Given the description of an element on the screen output the (x, y) to click on. 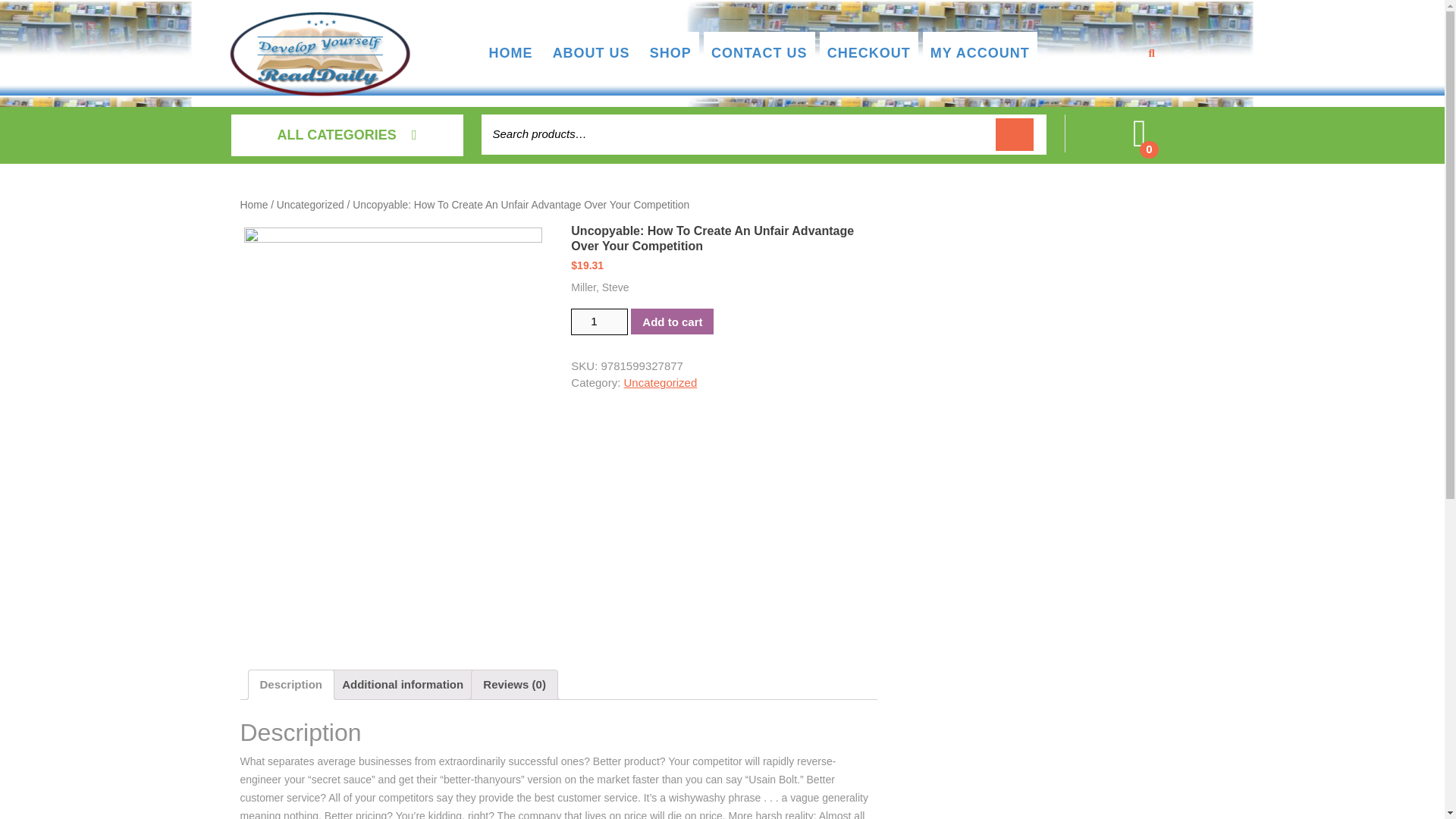
1 (598, 321)
CHECKOUT (868, 53)
HOME (510, 53)
Home (253, 204)
SHOP (670, 53)
ABOUT US (590, 53)
Additional information (402, 684)
Description (290, 684)
MY ACCOUNT (979, 53)
Uncategorized (309, 204)
Qty (598, 321)
CONTACT US (759, 53)
Add to cart (671, 321)
ALL CATEGORIES (346, 135)
Search (1014, 133)
